Given the description of an element on the screen output the (x, y) to click on. 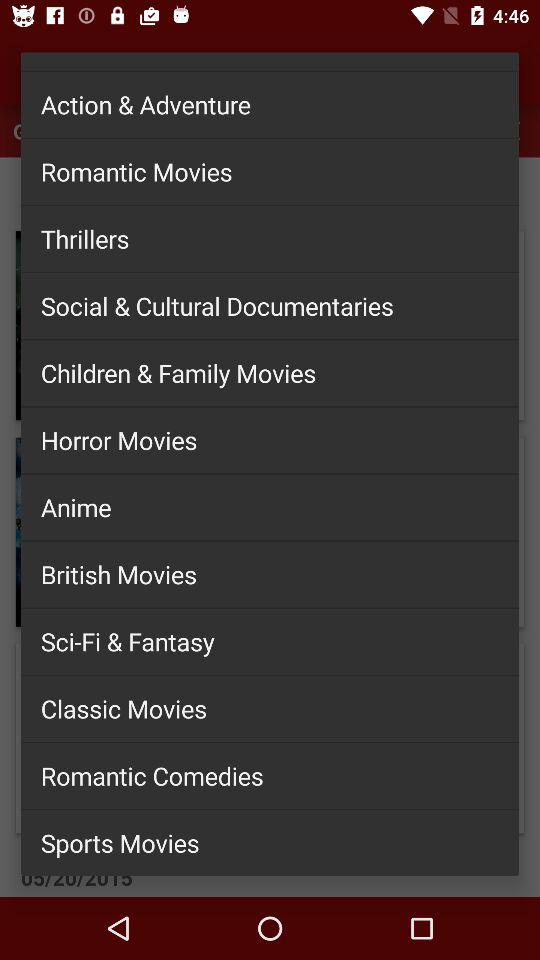
click the item above the    romantic movies icon (269, 104)
